Given the description of an element on the screen output the (x, y) to click on. 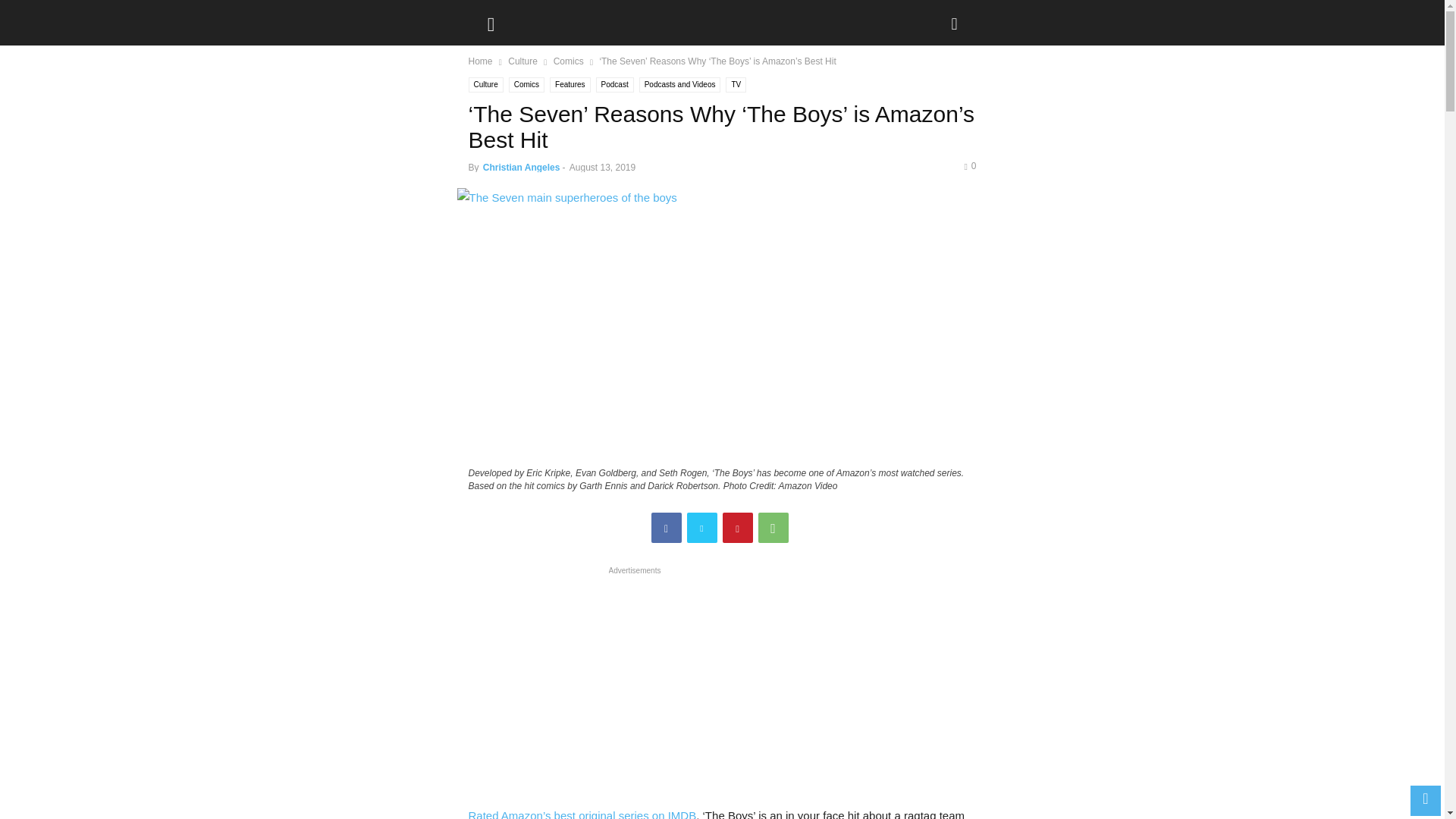
Features (569, 84)
Christian Angeles (521, 167)
Comics (568, 61)
Culture (485, 84)
TV (735, 84)
Home (480, 61)
Twitter (702, 527)
Podcast (614, 84)
Comics (526, 84)
Pinterest (737, 527)
View all posts in Comics (568, 61)
0 (969, 165)
Culture (522, 61)
WhatsApp (773, 527)
